Given the description of an element on the screen output the (x, y) to click on. 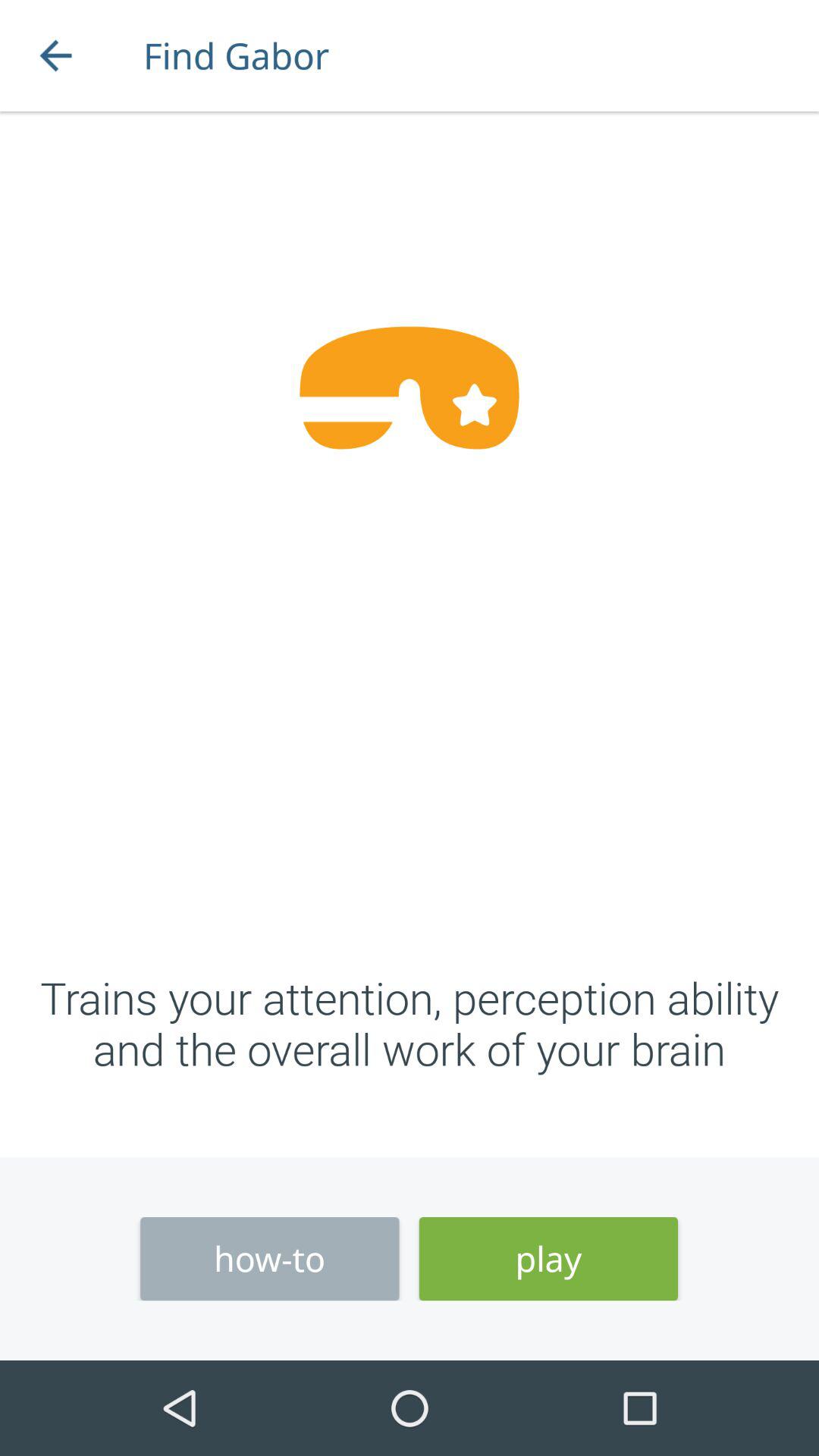
turn off icon at the bottom left corner (269, 1258)
